Given the description of an element on the screen output the (x, y) to click on. 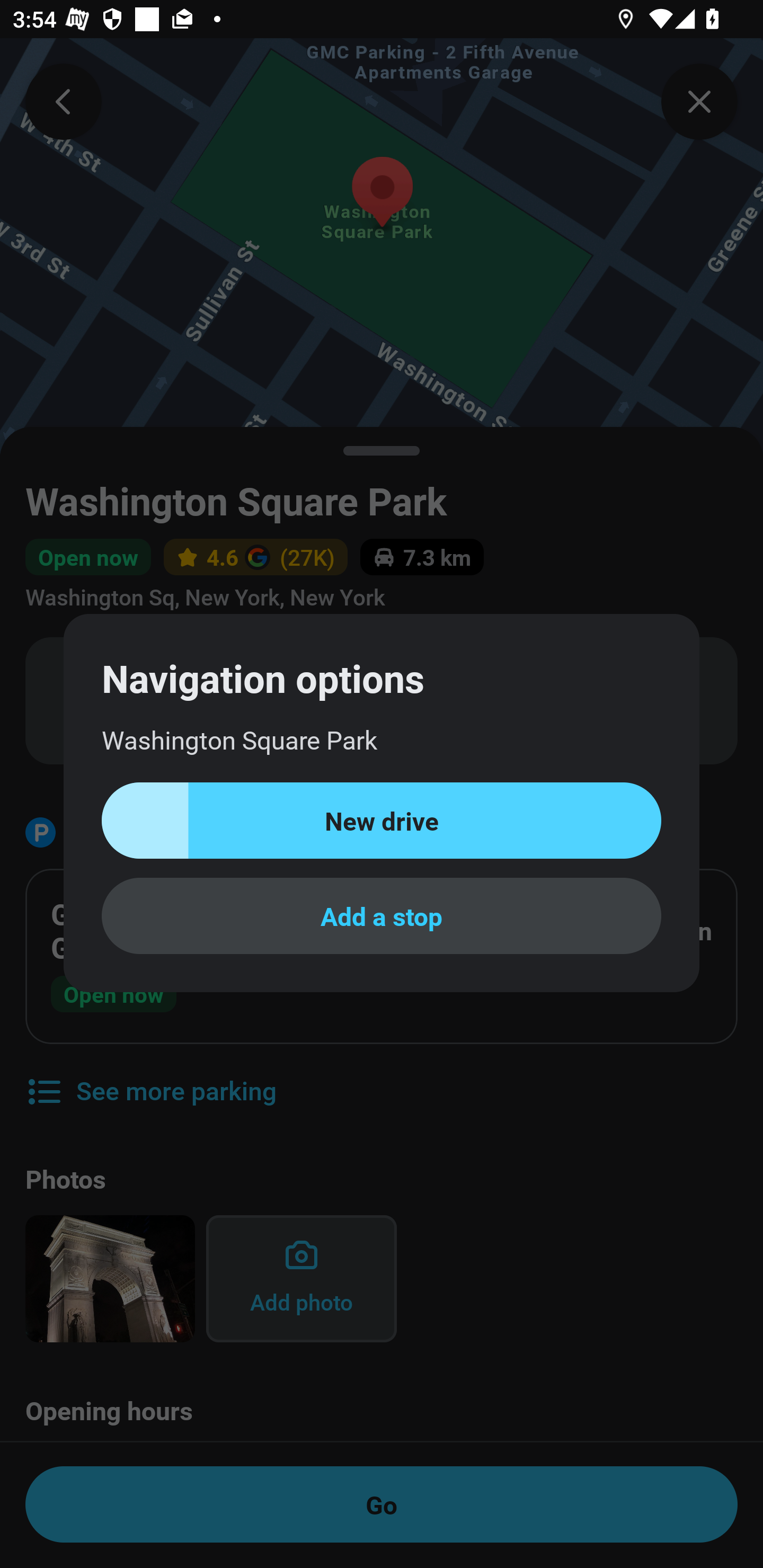
0.1516 New drive (381, 820)
Add a stop (381, 915)
